Given the description of an element on the screen output the (x, y) to click on. 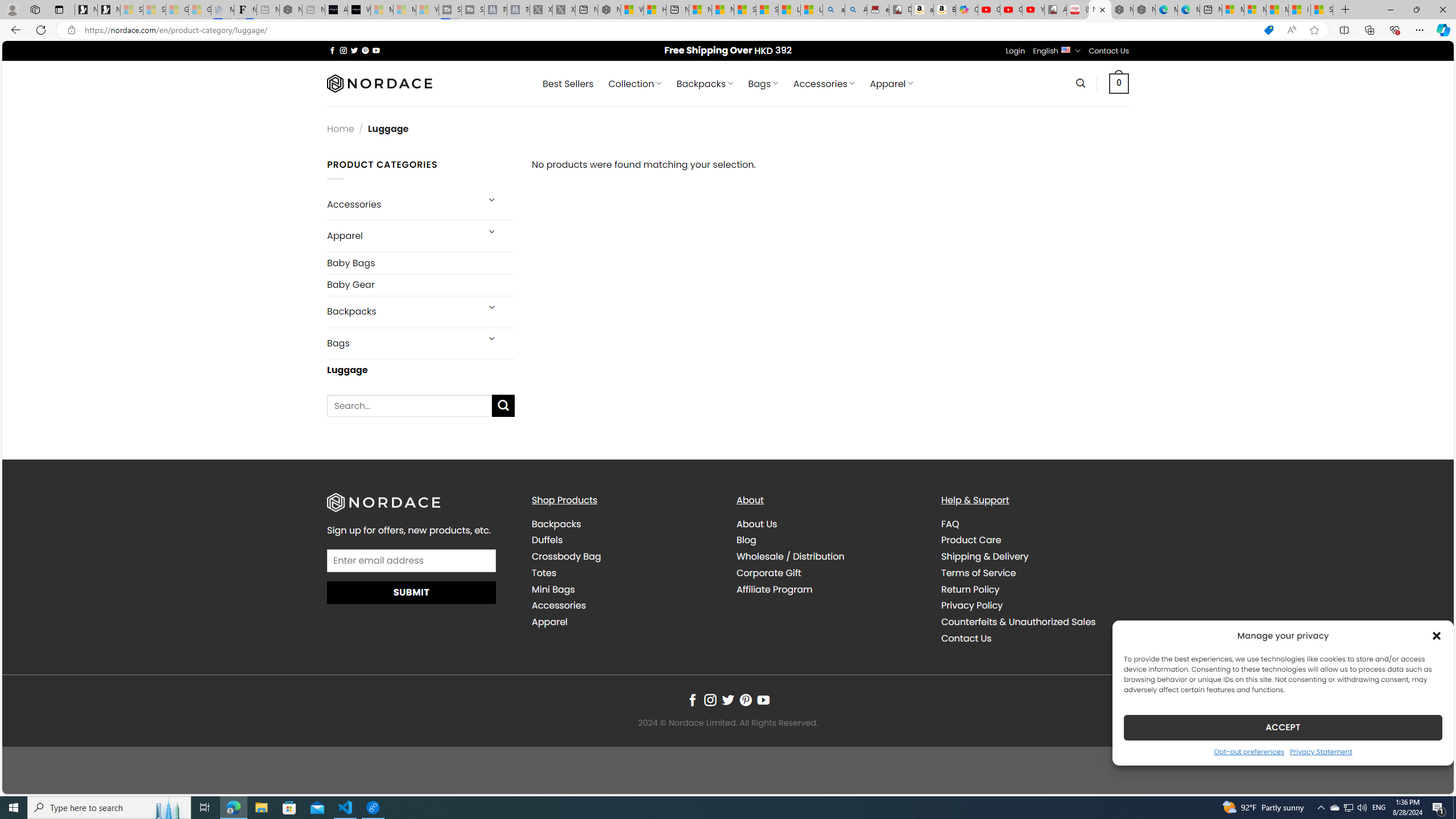
Submit (411, 592)
Baby Bags (421, 263)
Nordace - Nordace has arrived Hong Kong (1144, 9)
Shipping & Delivery (1034, 556)
Apparel (625, 622)
Apparel (549, 621)
Mini Bags (553, 589)
